Given the description of an element on the screen output the (x, y) to click on. 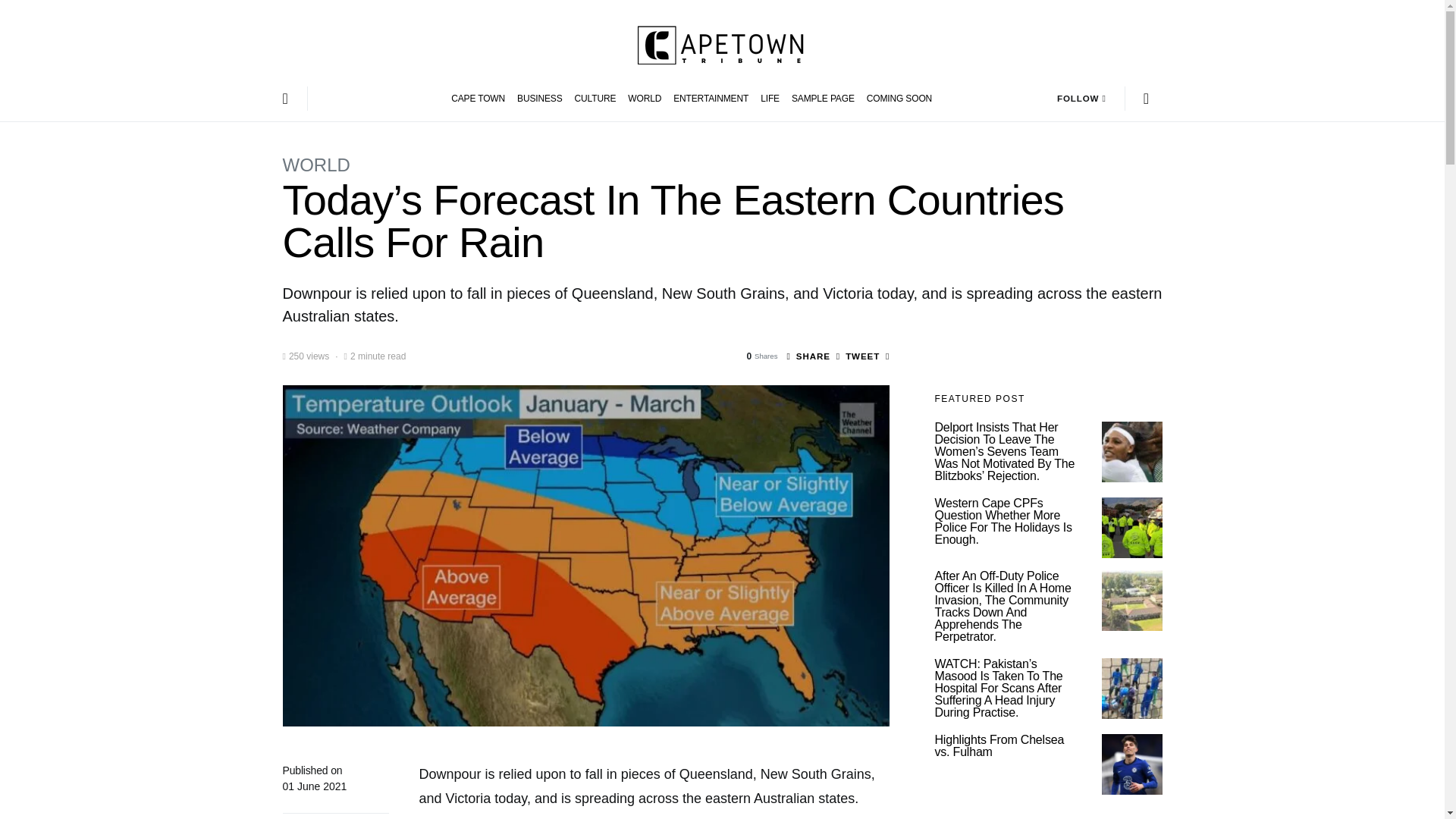
TWEET (857, 356)
SHARE (807, 356)
WORLD (315, 164)
CAPE TOWN (481, 98)
COMING SOON (895, 98)
ENTERTAINMENT (710, 98)
BUSINESS (540, 98)
WORLD (643, 98)
SAMPLE PAGE (823, 98)
CULTURE (596, 98)
